Given the description of an element on the screen output the (x, y) to click on. 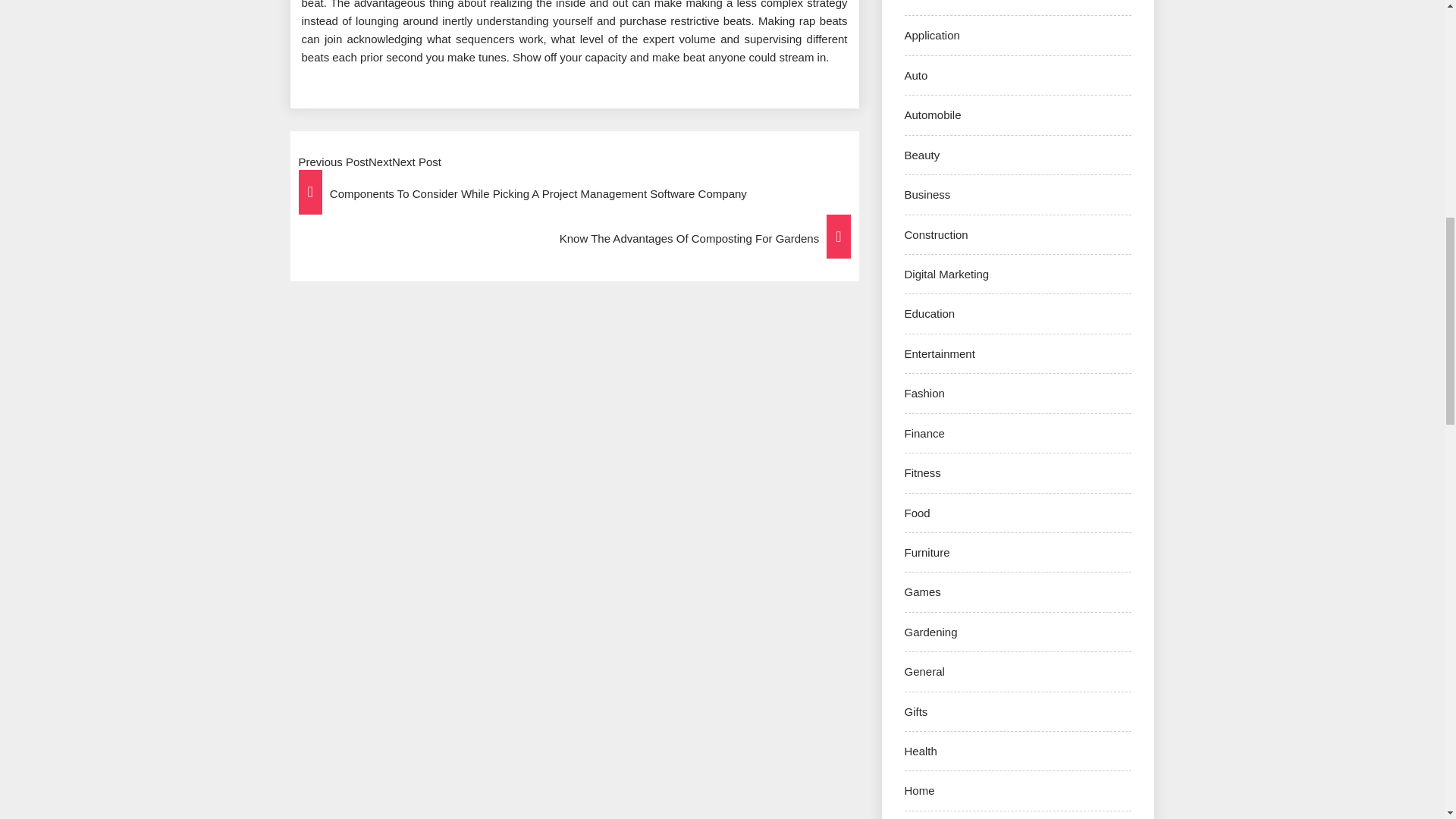
Business (927, 194)
Construction (936, 234)
Fitness (922, 472)
Auto (915, 74)
Furniture (926, 552)
Automobile (932, 114)
Games (922, 591)
Gardening (930, 631)
Fashion (923, 392)
Food (917, 512)
